Given the description of an element on the screen output the (x, y) to click on. 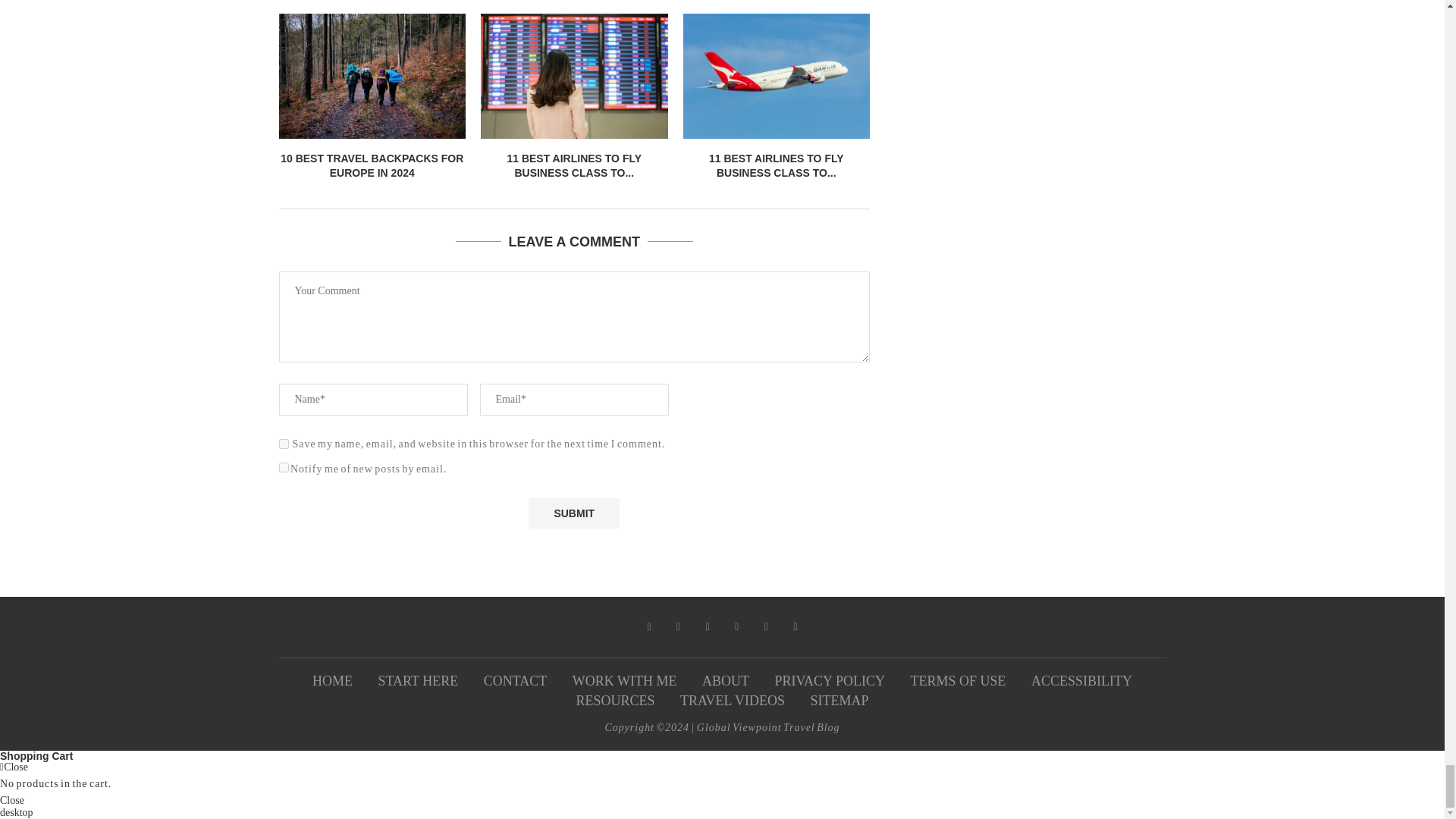
subscribe (283, 467)
Submit (574, 513)
10 Best Travel Backpacks for Europe in 2024 (372, 75)
yes (283, 443)
